Given the description of an element on the screen output the (x, y) to click on. 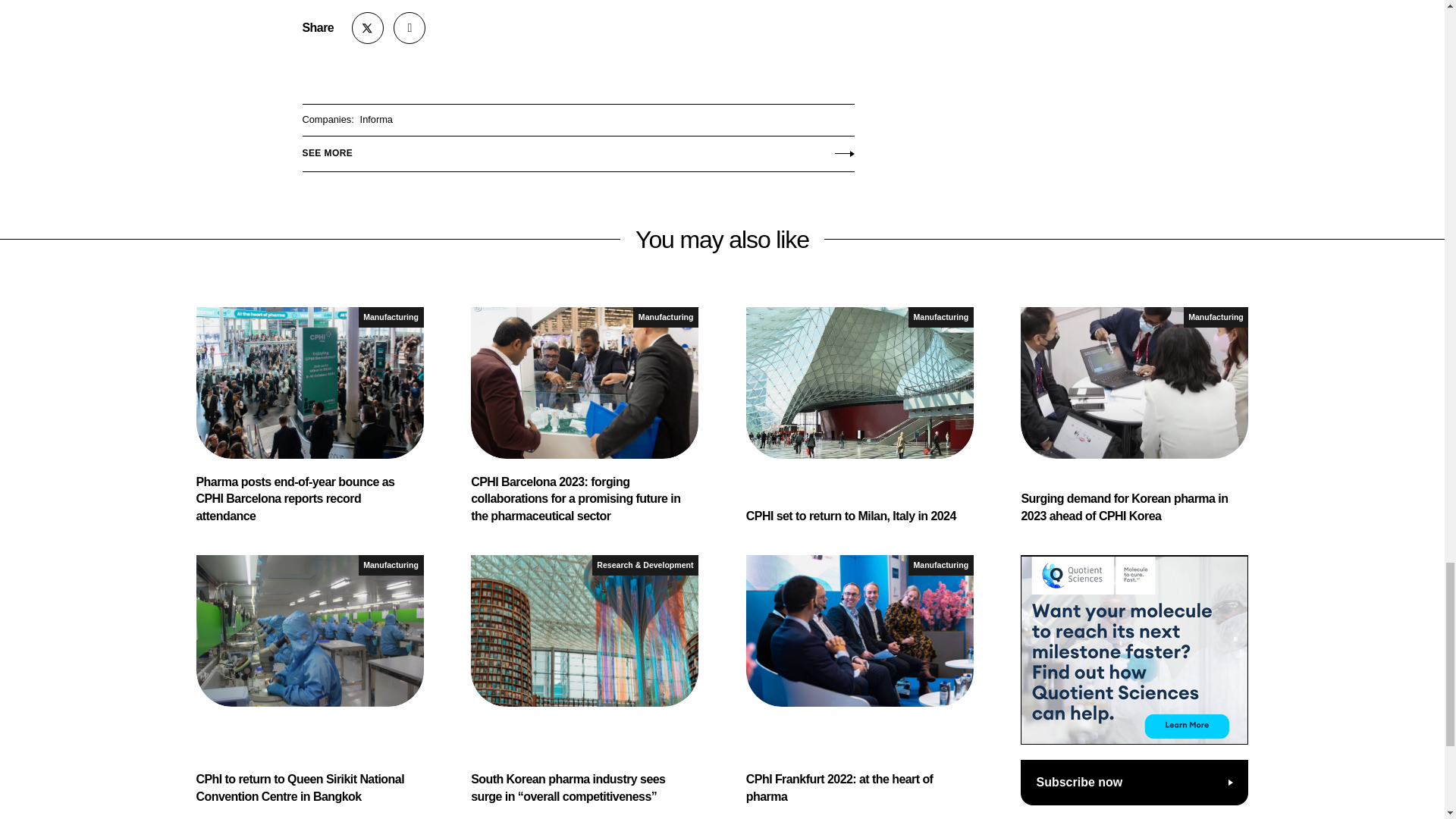
Follow Manufacturing Chemist on X (368, 28)
Follow Manufacturing Chemist on LinkedIn (409, 28)
LinkedIn (409, 28)
X (368, 28)
Manufacturing (390, 317)
SEE MORE (577, 150)
